Given the description of an element on the screen output the (x, y) to click on. 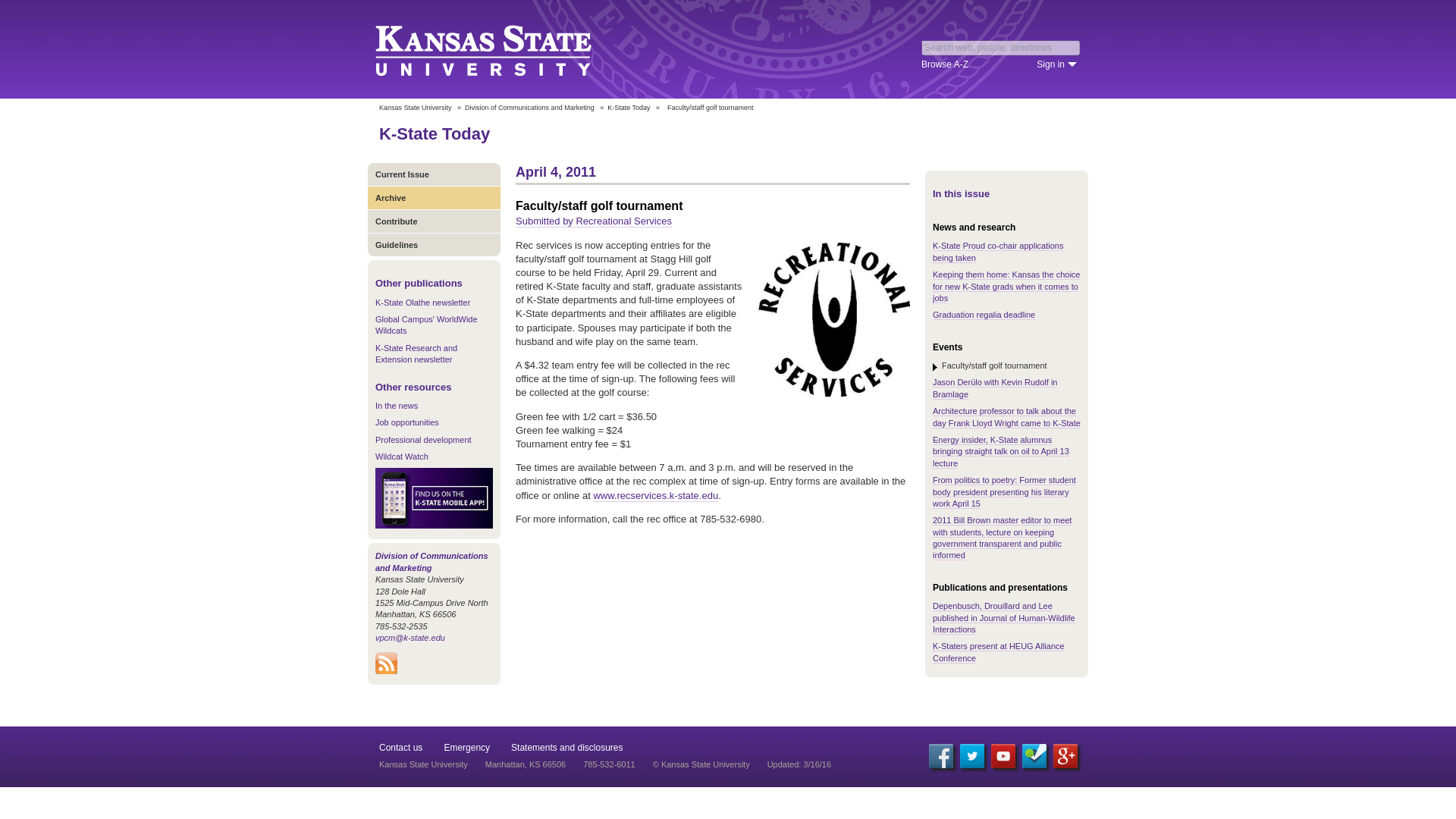
Professional development (423, 439)
Kansas State University (502, 49)
K-State Olathe newsletter (422, 302)
Kansas State University (414, 107)
Sign in (1056, 64)
Search web, people, directories (1000, 47)
